Given the description of an element on the screen output the (x, y) to click on. 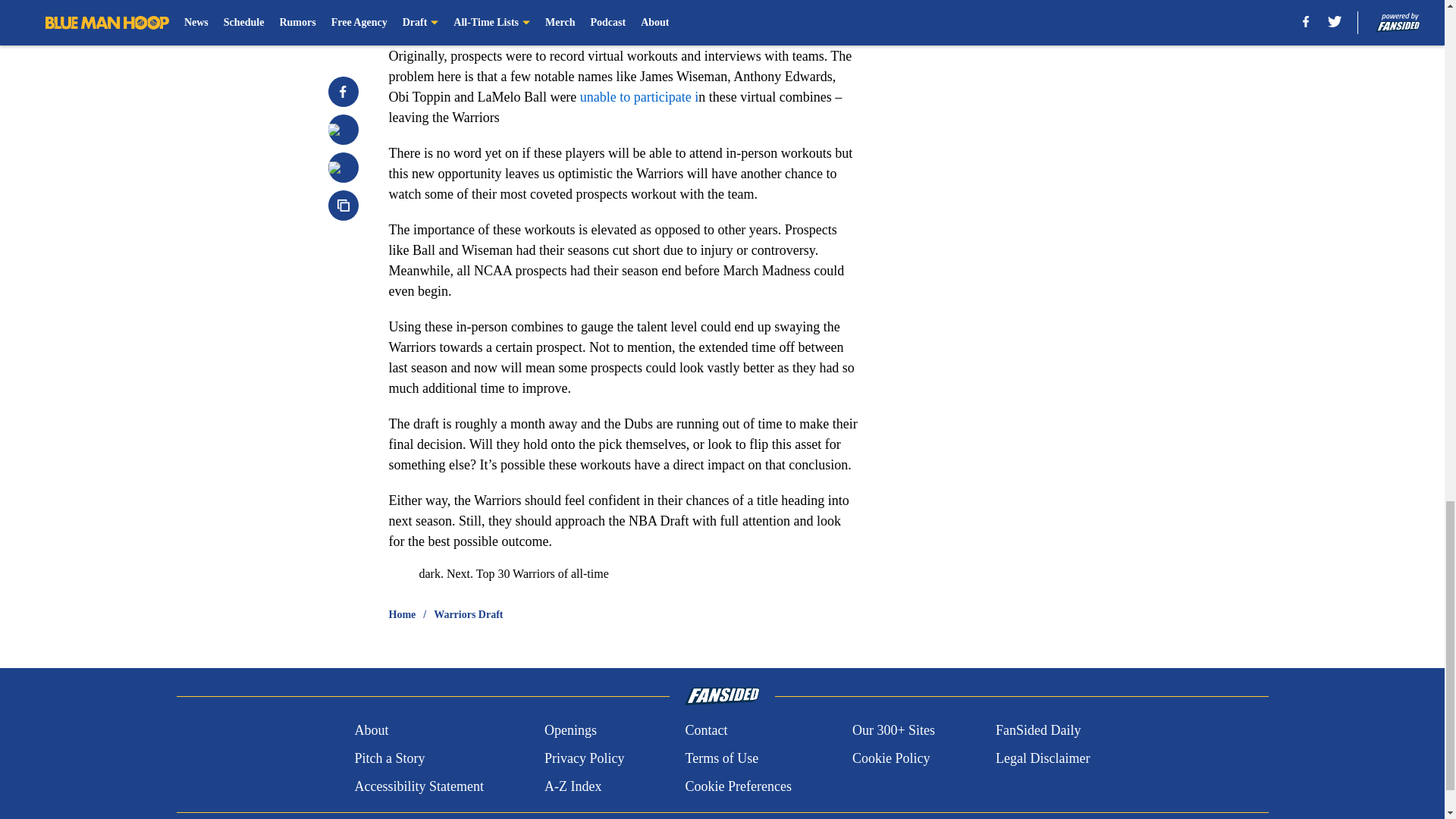
Pitch a Story (389, 758)
October 12, 2020 (657, 11)
Home (401, 614)
FanSided Daily (1038, 730)
unable to participate i (637, 96)
Contact (705, 730)
About (370, 730)
Warriors Draft (467, 614)
Openings (570, 730)
